Given the description of an element on the screen output the (x, y) to click on. 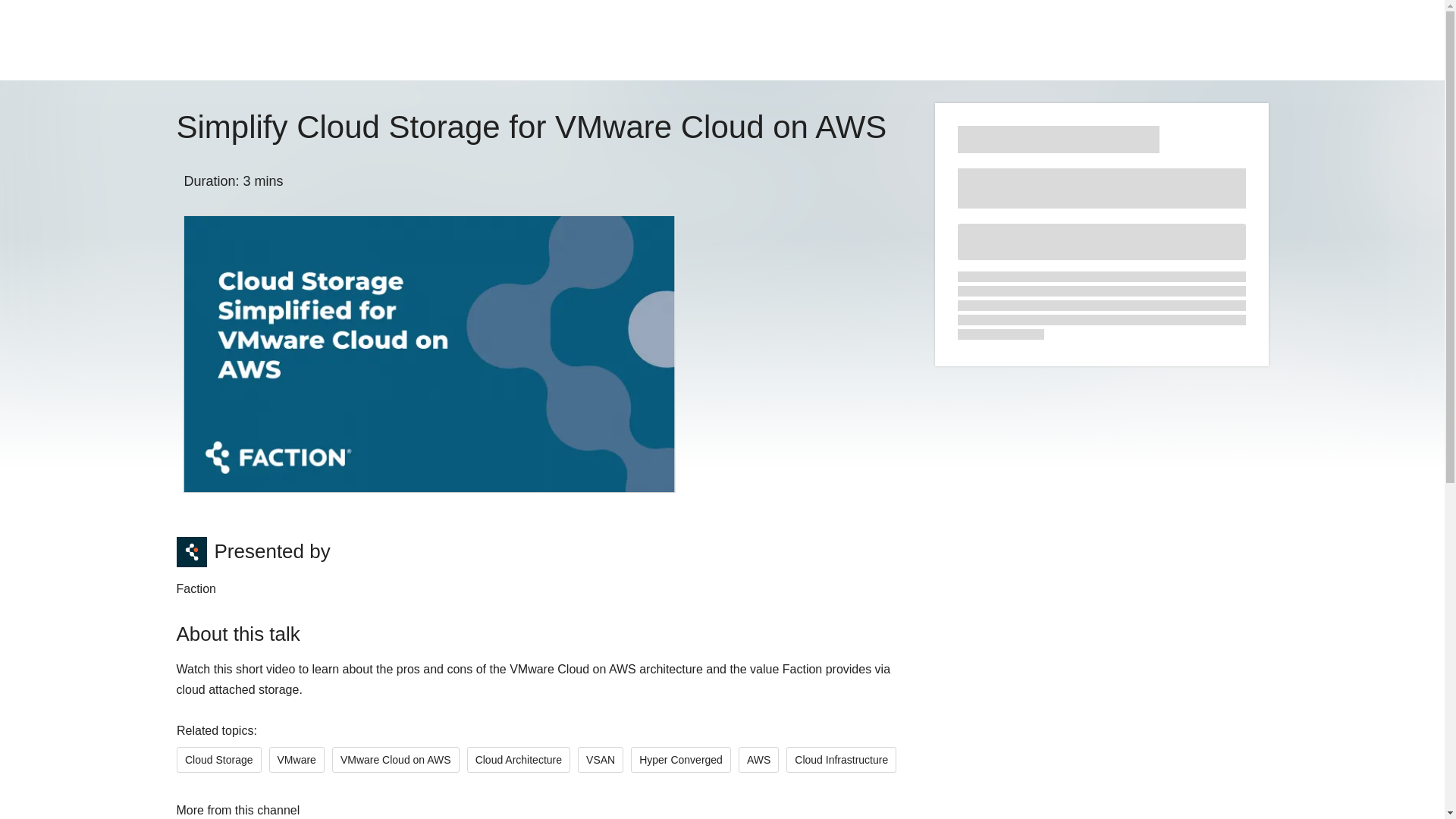
VSAN (600, 759)
Cloud Architecture (517, 759)
AWS (757, 759)
VMware Cloud on AWS (394, 759)
VMware (295, 759)
Cloud Storage (218, 759)
Hyper Converged (680, 759)
Cloud Infrastructure (841, 759)
